Given the description of an element on the screen output the (x, y) to click on. 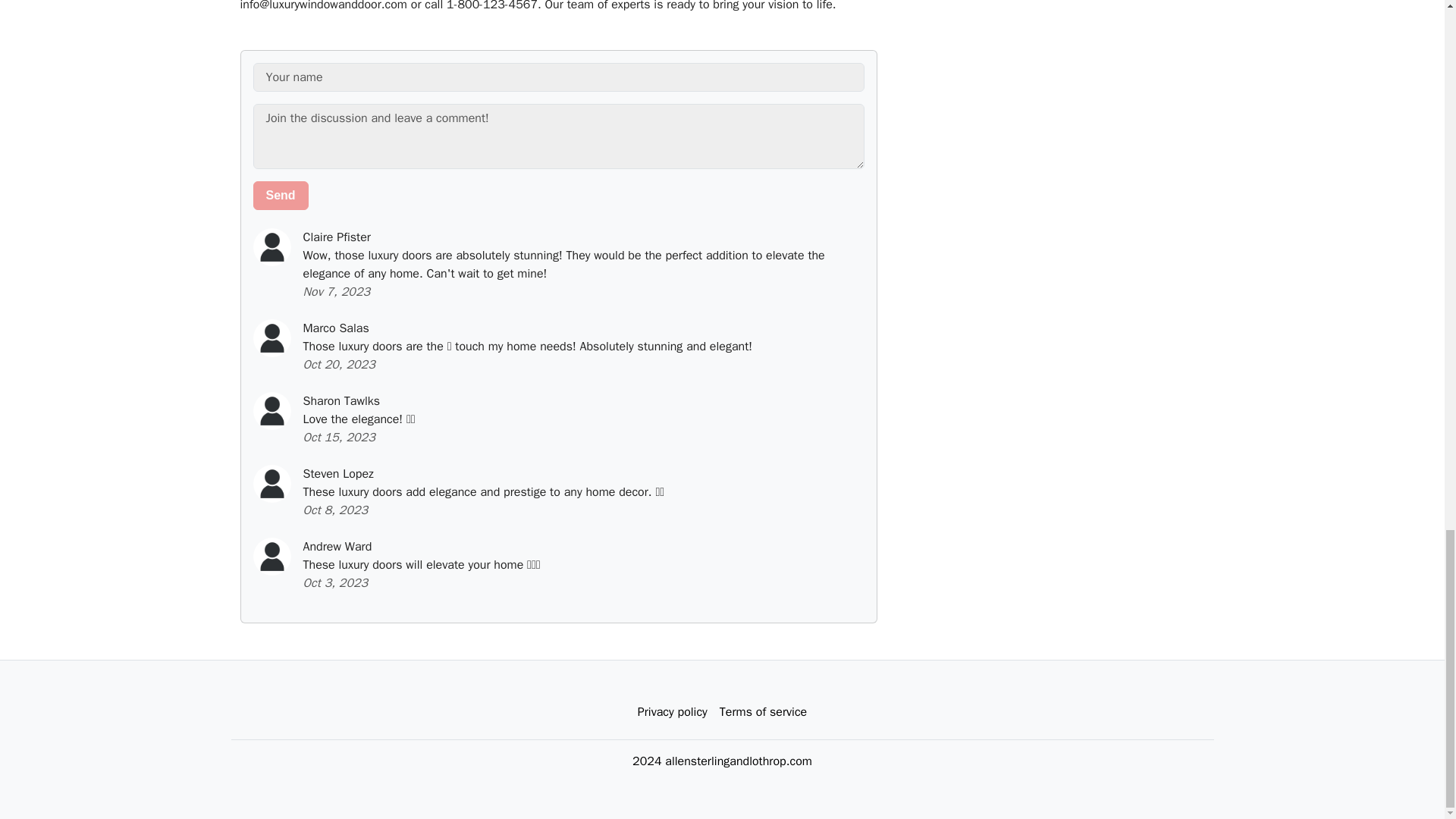
Terms of service (762, 711)
Privacy policy (672, 711)
Send (280, 194)
Send (280, 194)
